Given the description of an element on the screen output the (x, y) to click on. 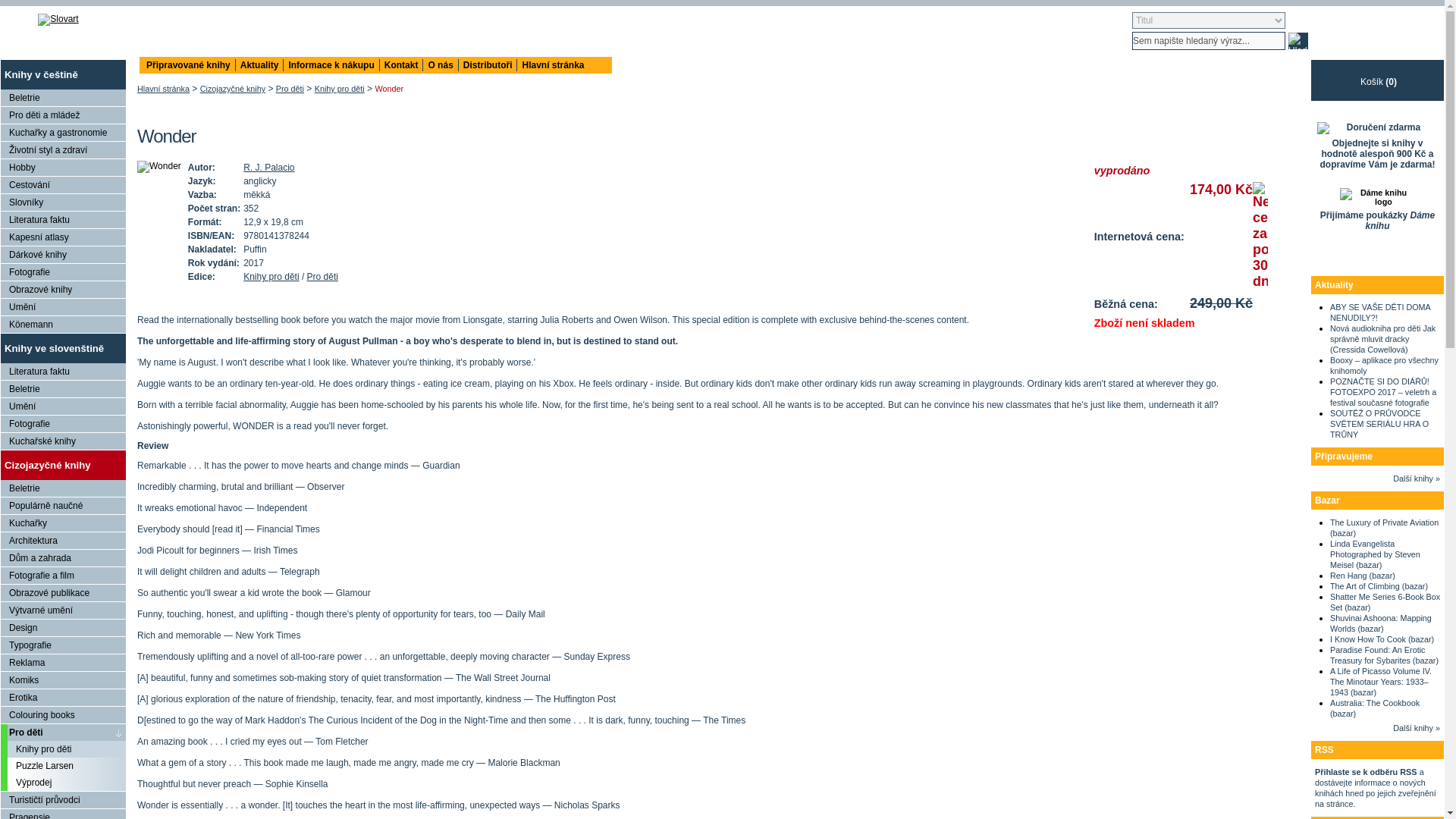
Literatura faktu (63, 371)
Beletrie (63, 97)
Literatura faktu (63, 219)
Fotografie (63, 271)
Beletrie (63, 97)
Beletrie (63, 388)
Beletrie (63, 388)
Slovart (57, 19)
Hobby (63, 167)
Architektura (63, 540)
Fotografie (63, 271)
Colouring books (63, 714)
Hledat (1297, 40)
Komiks (63, 679)
Literatura faktu (63, 219)
